Given the description of an element on the screen output the (x, y) to click on. 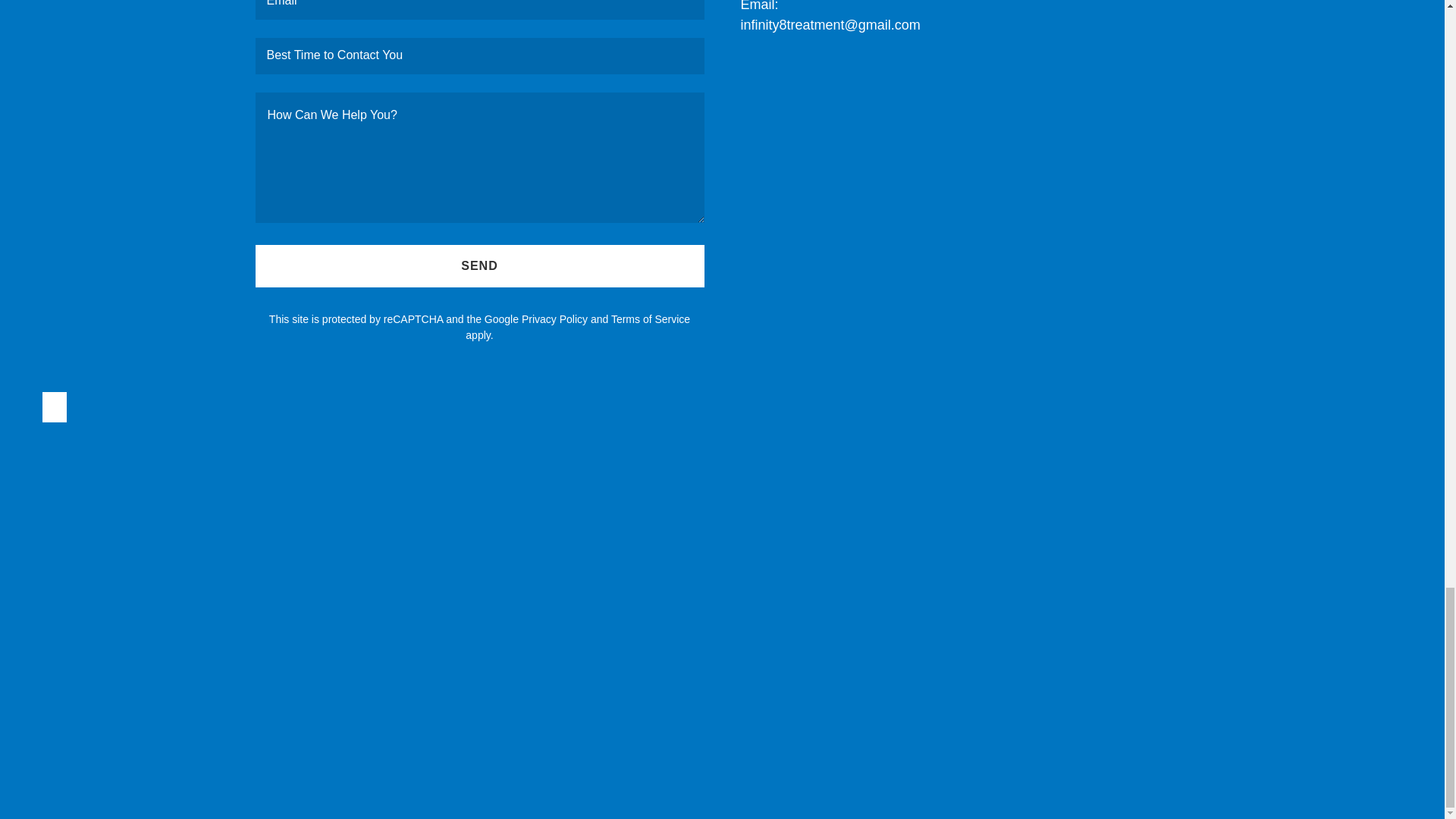
SEND (478, 265)
Privacy Policy (554, 318)
Terms of Service (650, 318)
